Given the description of an element on the screen output the (x, y) to click on. 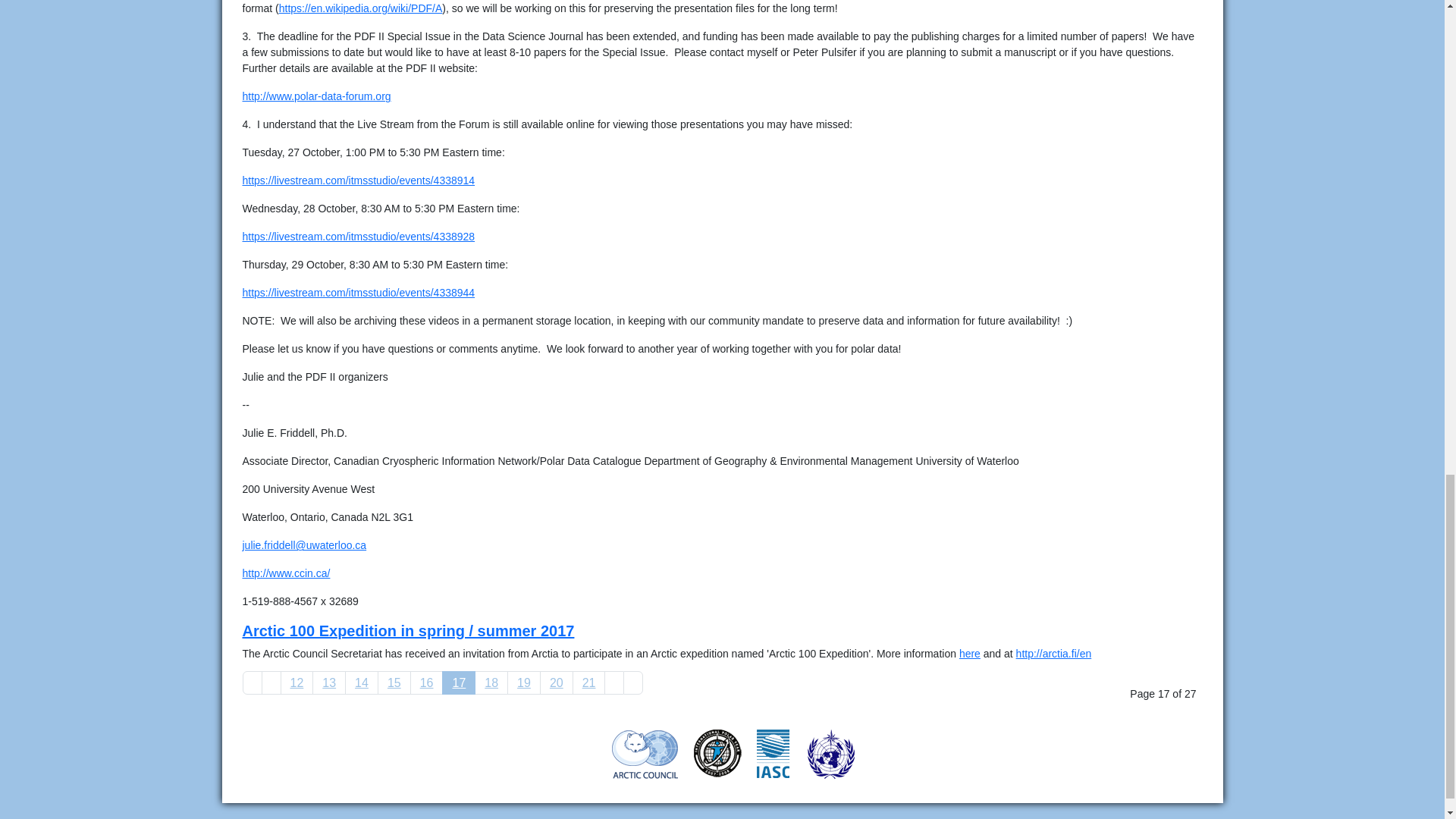
Arctic Council (644, 753)
World Meteorological Organization (830, 753)
The International Arctic Science Committee (773, 752)
International Polar Year (717, 752)
